Given the description of an element on the screen output the (x, y) to click on. 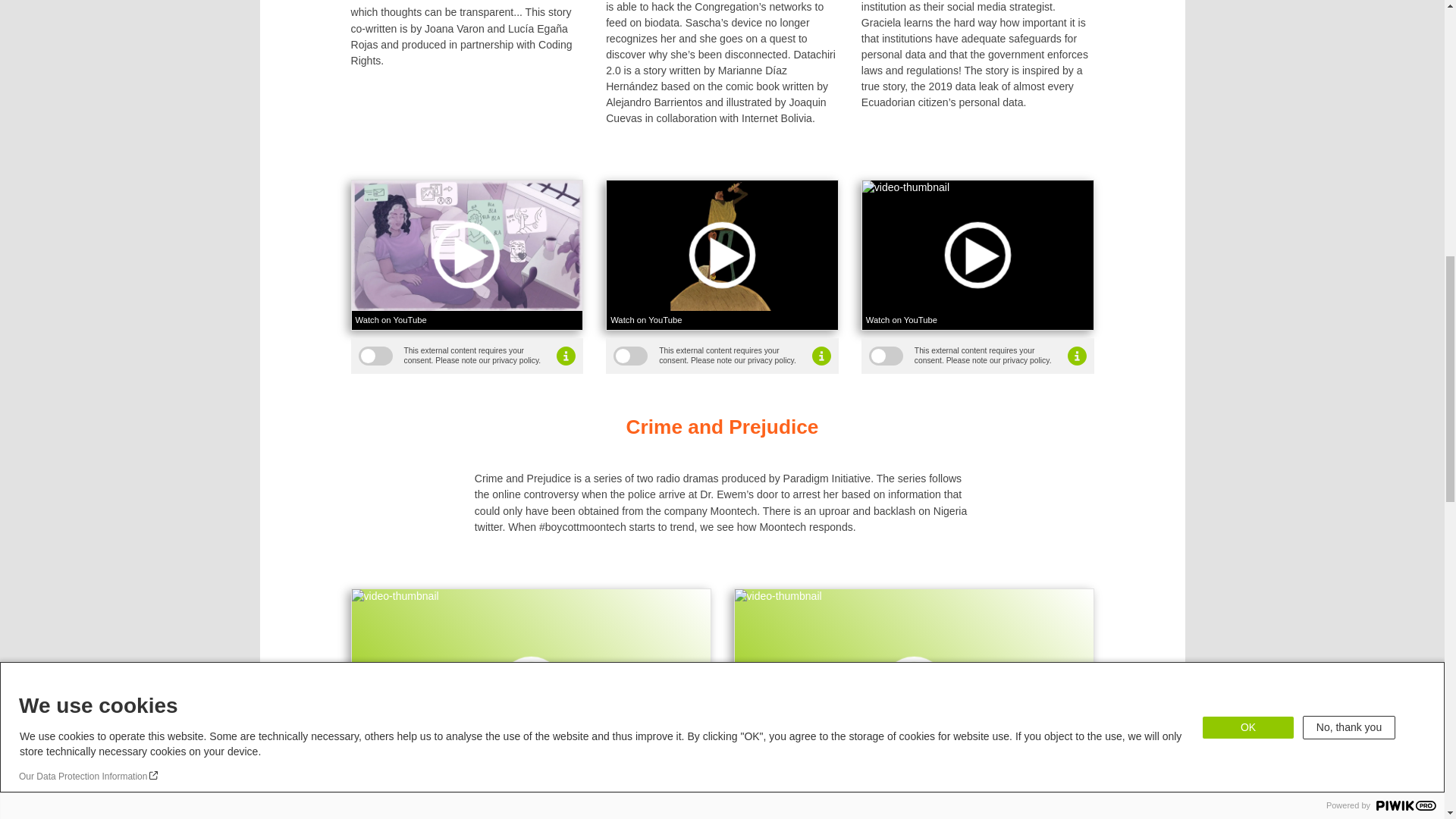
Watch on YouTube (784, 777)
Watch on YouTube (400, 777)
Watch on YouTube (467, 320)
Watch on YouTube (722, 320)
